Given the description of an element on the screen output the (x, y) to click on. 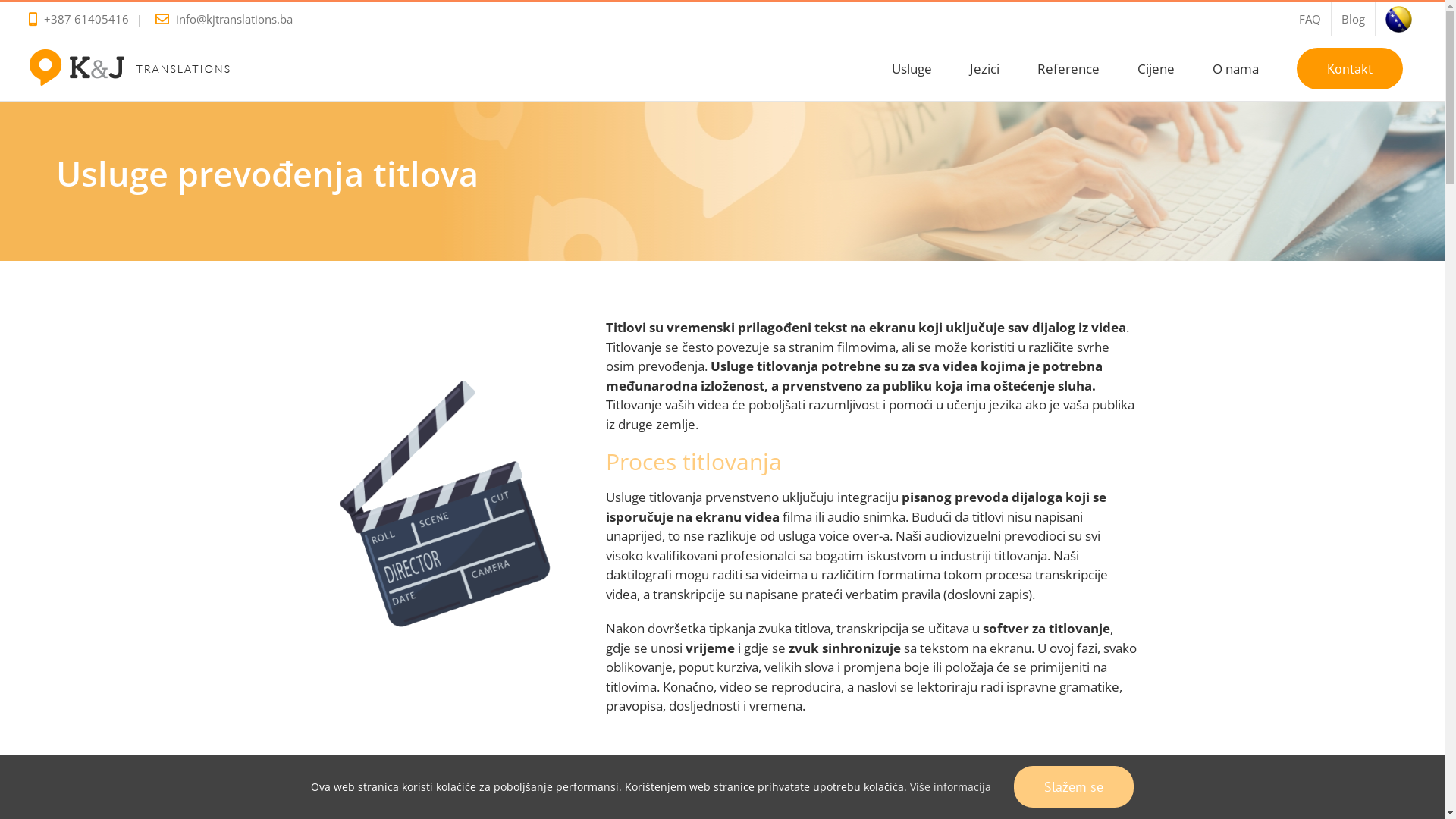
FAQ Element type: text (1309, 18)
Blog Element type: text (1352, 18)
Jezici Element type: text (984, 68)
+387 61405416 Element type: text (85, 18)
O nama Element type: text (1235, 68)
Usluge Element type: text (911, 68)
Cijene Element type: text (1155, 68)
Kontakt Element type: text (1349, 68)
Reference Element type: text (1068, 68)
info@kjtranslations.ba Element type: text (233, 18)
